Given the description of an element on the screen output the (x, y) to click on. 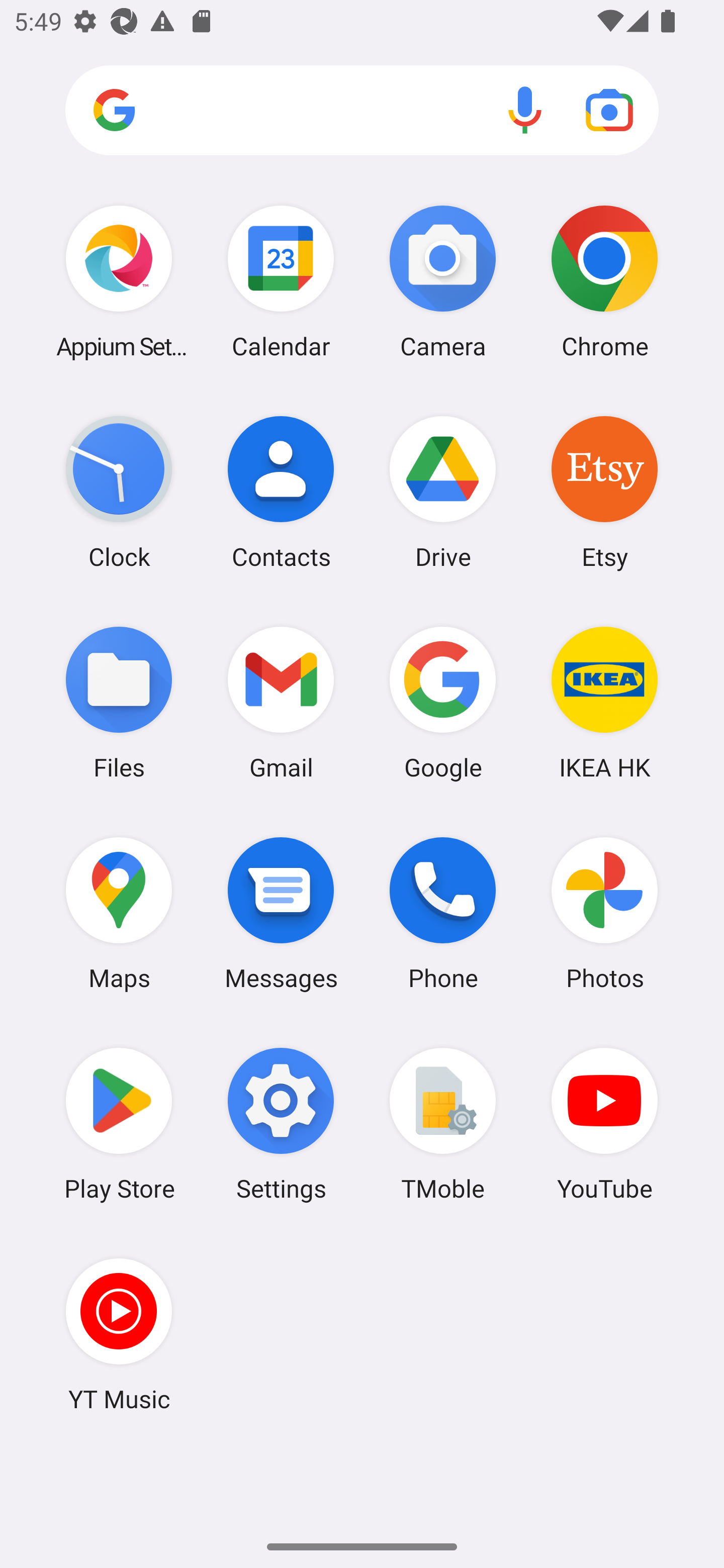
Search apps, web and more (361, 110)
Voice search (524, 109)
Google Lens (608, 109)
Appium Settings (118, 281)
Calendar (280, 281)
Camera (443, 281)
Chrome (604, 281)
Clock (118, 492)
Contacts (280, 492)
Drive (443, 492)
Etsy (604, 492)
Files (118, 702)
Gmail (280, 702)
Google (443, 702)
IKEA HK (604, 702)
Maps (118, 913)
Messages (280, 913)
Phone (443, 913)
Photos (604, 913)
Play Store (118, 1124)
Settings (280, 1124)
TMoble (443, 1124)
YouTube (604, 1124)
YT Music (118, 1334)
